Given the description of an element on the screen output the (x, y) to click on. 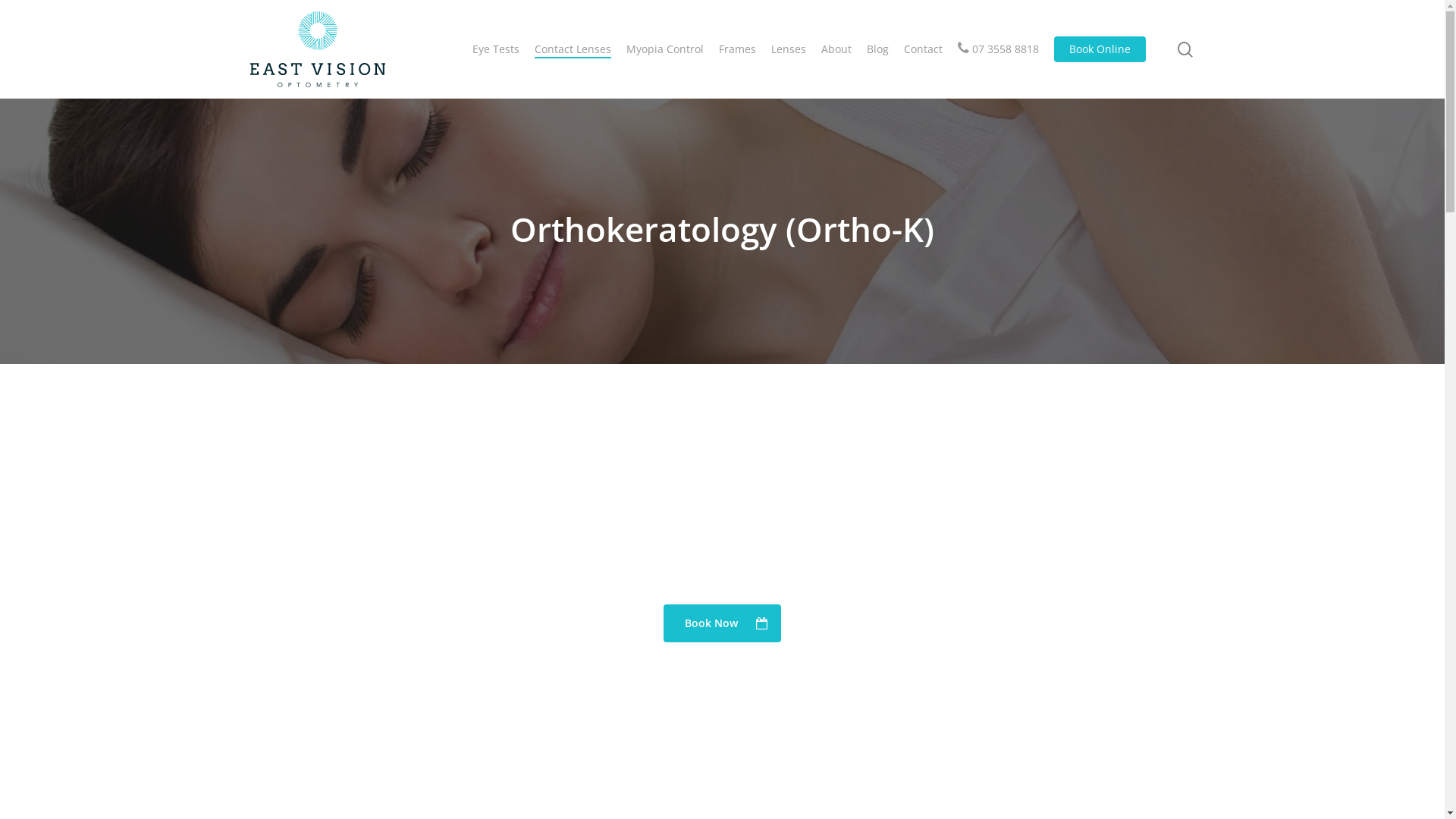
Myopia Control Element type: text (664, 48)
Contact Lenses Element type: text (572, 48)
Contact Element type: text (922, 48)
Book Now Element type: text (722, 623)
Book Online Element type: text (1099, 48)
Eye Tests Element type: text (495, 48)
07 3558 8818 Element type: text (997, 48)
Lenses Element type: text (788, 48)
search Element type: text (1185, 48)
Frames Element type: text (737, 48)
Blog Element type: text (877, 48)
About Element type: text (836, 48)
